Given the description of an element on the screen output the (x, y) to click on. 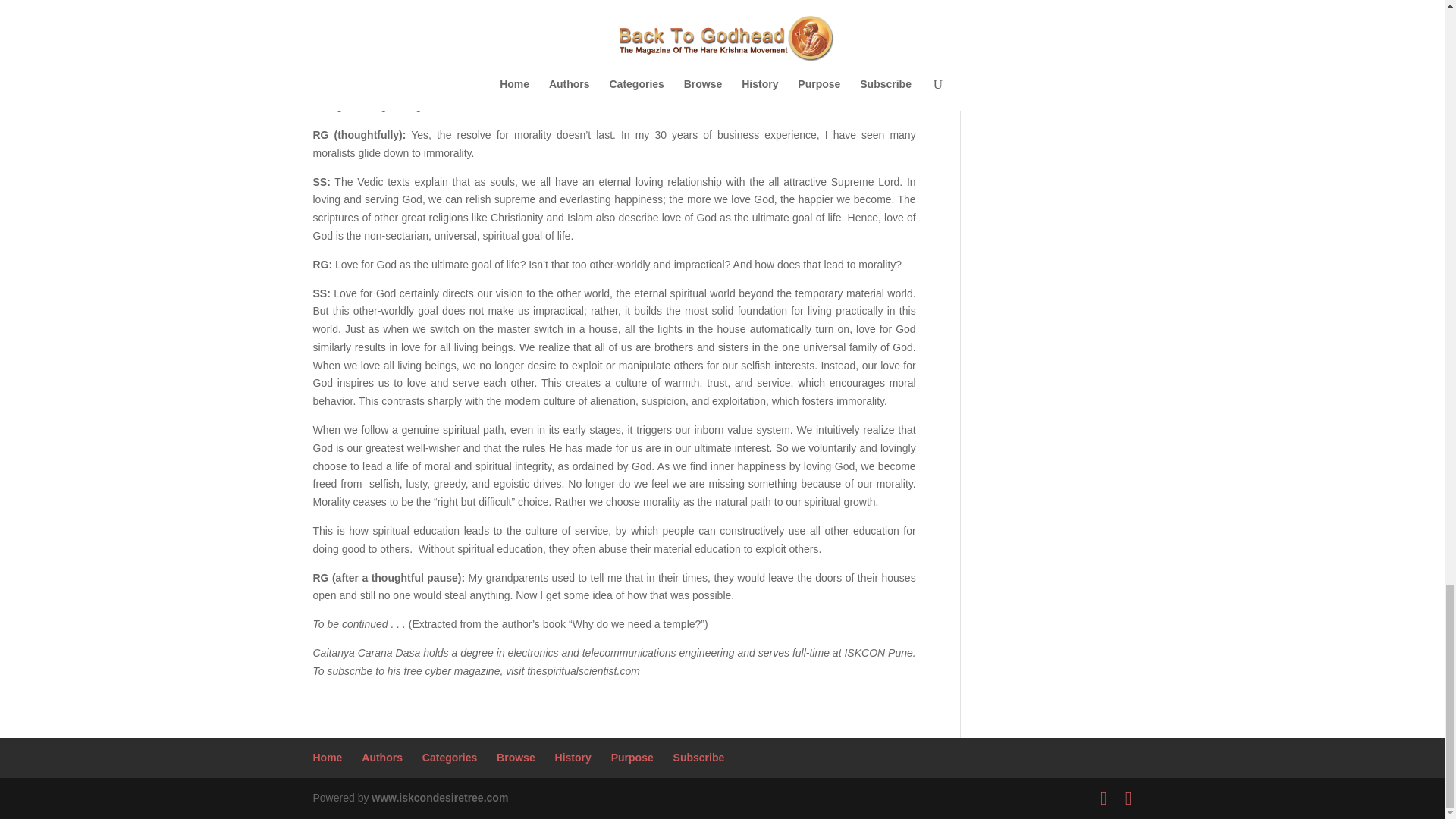
www.iskcondesiretree.com (439, 797)
History (572, 757)
Categories (449, 757)
Home (327, 757)
Authors (382, 757)
Home (327, 757)
Categories (449, 757)
Browse (515, 757)
Subscribe (698, 757)
Purpose (632, 757)
